Given the description of an element on the screen output the (x, y) to click on. 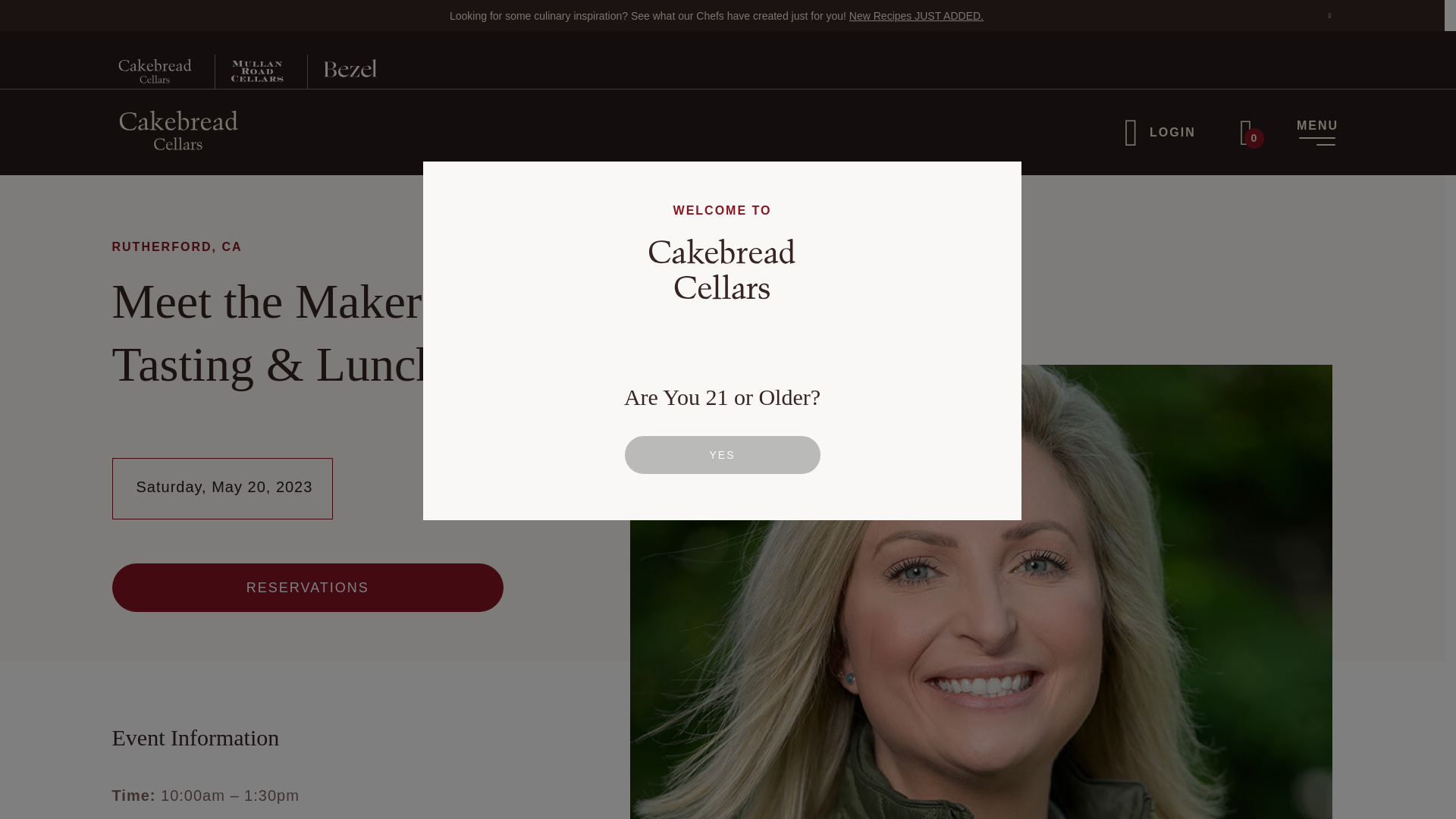
Go to the Mullan Road Cellars website (248, 71)
Go to the Homepage (177, 129)
Cart 0 Items (1246, 132)
Go to the Bezel Wines website (342, 71)
0 (1246, 132)
Go to the Homepage (154, 71)
New Recipes JUST ADDED. (916, 14)
Go to the Mullan Road Cellars website (248, 71)
Go to the Homepage (154, 71)
LOGIN (1159, 132)
Go to the Homepage (177, 129)
Go to the Bezel Wines website (342, 71)
